Given the description of an element on the screen output the (x, y) to click on. 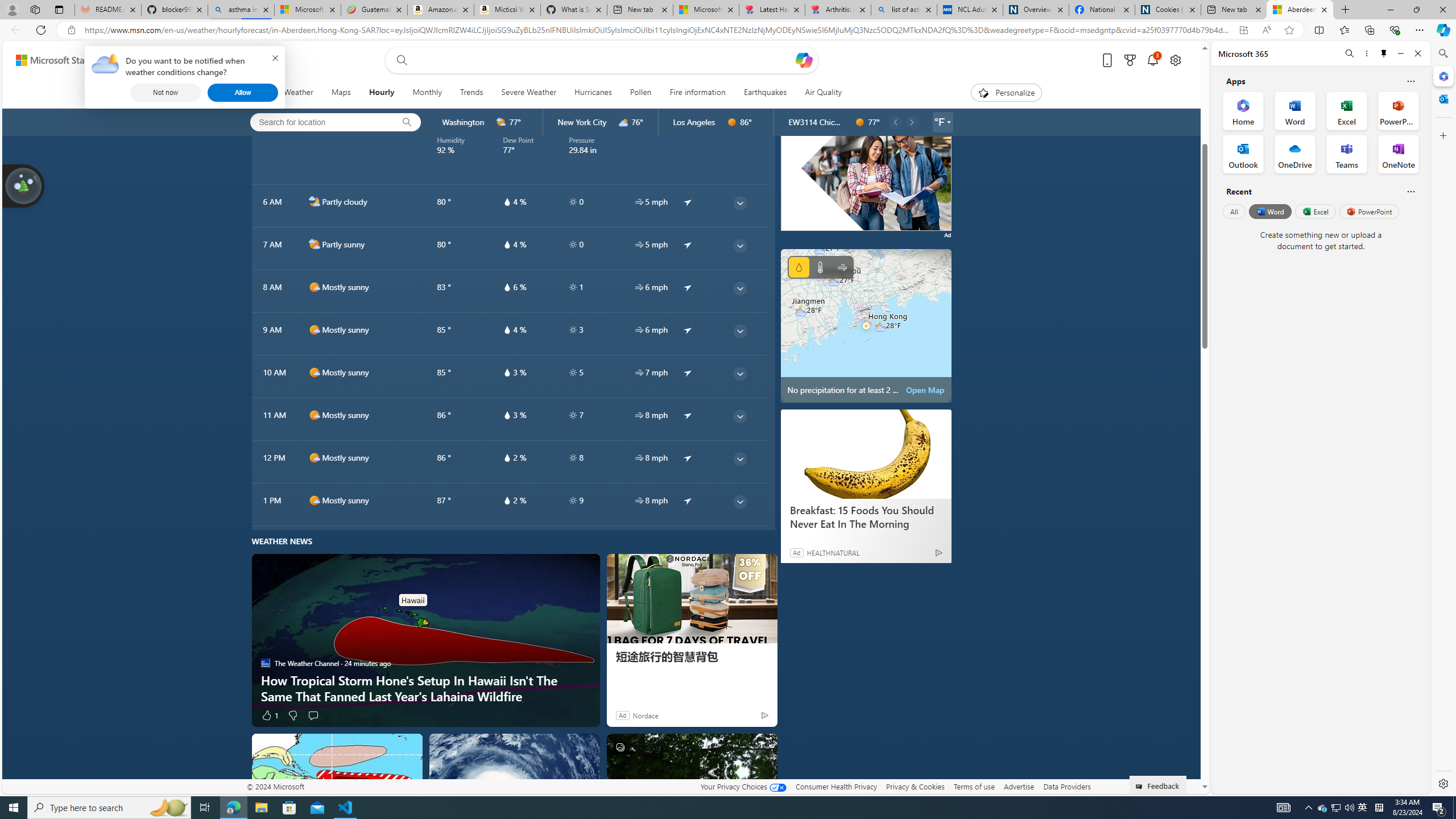
common/carouselChevron (911, 122)
d1000 (314, 500)
Allow (243, 92)
hourlyTable/wind (638, 500)
App available. Install Microsoft Start Weather (1243, 29)
Cookies | About | NICE (1167, 9)
